Given the description of an element on the screen output the (x, y) to click on. 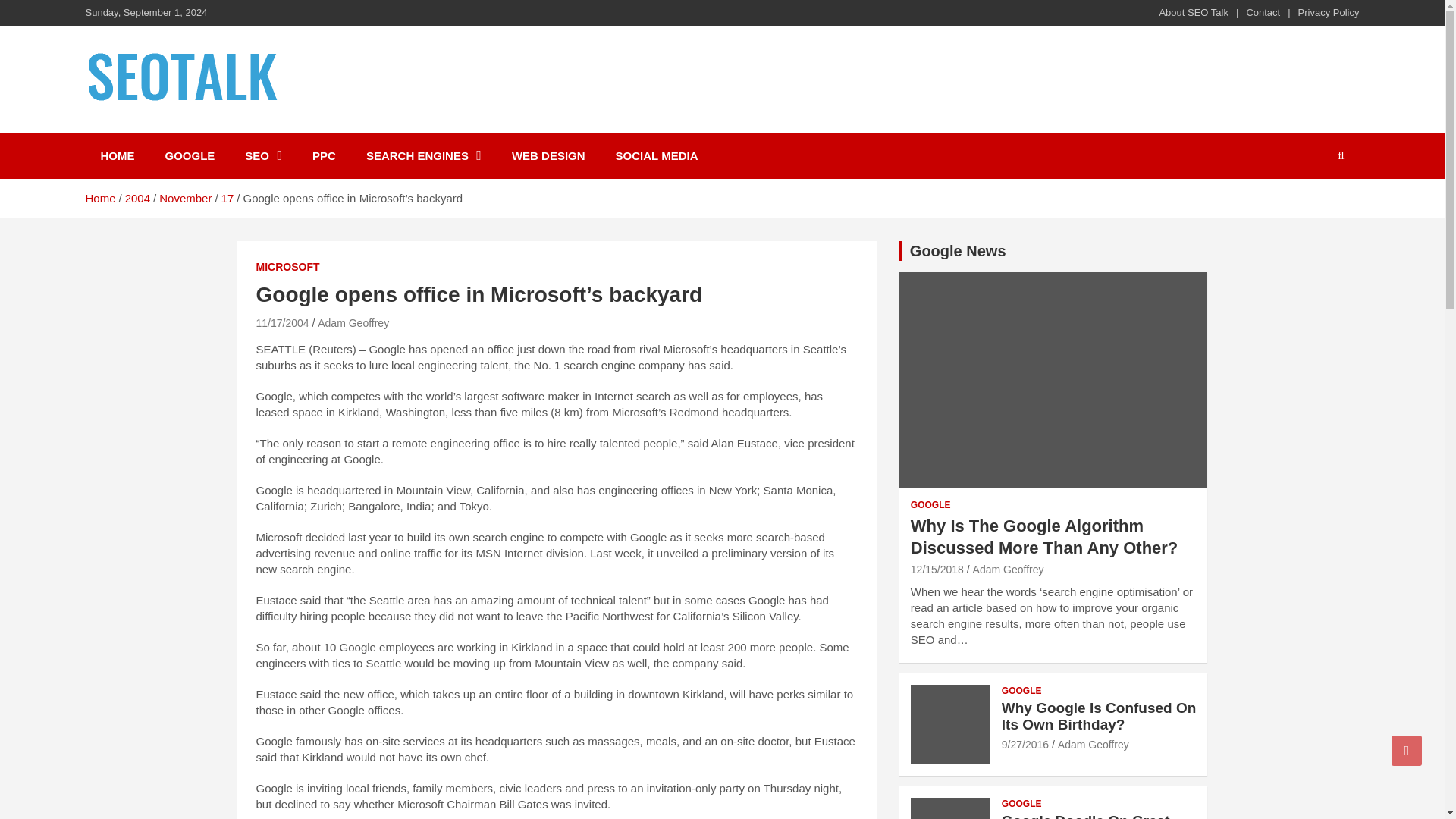
GOOGLE (930, 504)
17 (227, 197)
Why Is The Google Algorithm Discussed More Than Any Other? (937, 569)
MICROSOFT (288, 267)
Privacy Policy (1328, 12)
Contact (1262, 12)
SEO (263, 155)
PPC (323, 155)
GOOGLE (189, 155)
HOME (116, 155)
